Given the description of an element on the screen output the (x, y) to click on. 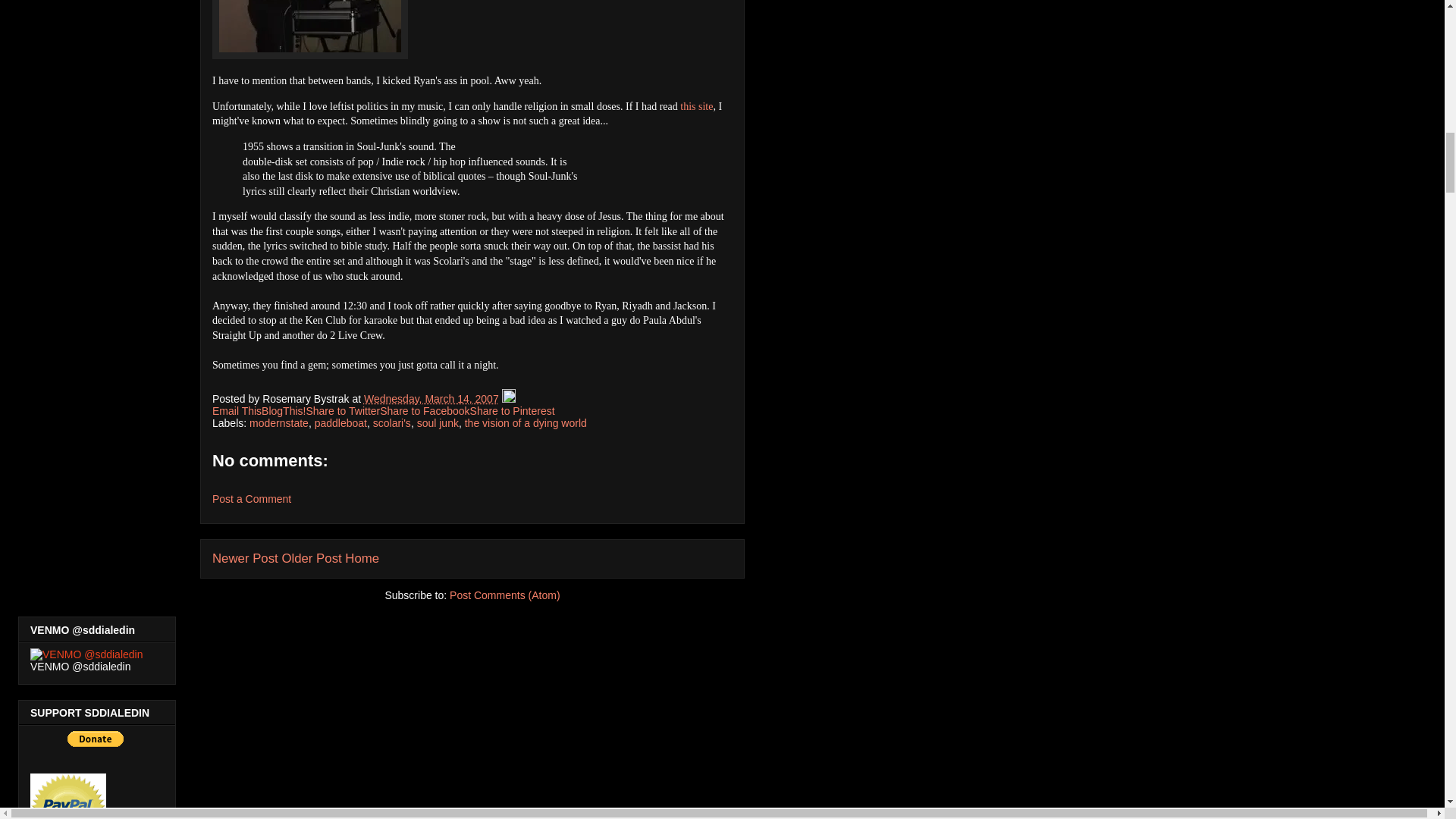
BlogThis! (283, 410)
Newer Post (245, 558)
Older Post (310, 558)
Post a Comment (251, 499)
Home (361, 558)
paddleboat (340, 422)
Edit Post (508, 398)
Share to Twitter (342, 410)
Share to Twitter (342, 410)
PayPal - The safer, easier way to pay online! (94, 738)
permanent link (431, 398)
Older Post (310, 558)
scolari's (391, 422)
soul junk (437, 422)
the vision of a dying world (525, 422)
